Given the description of an element on the screen output the (x, y) to click on. 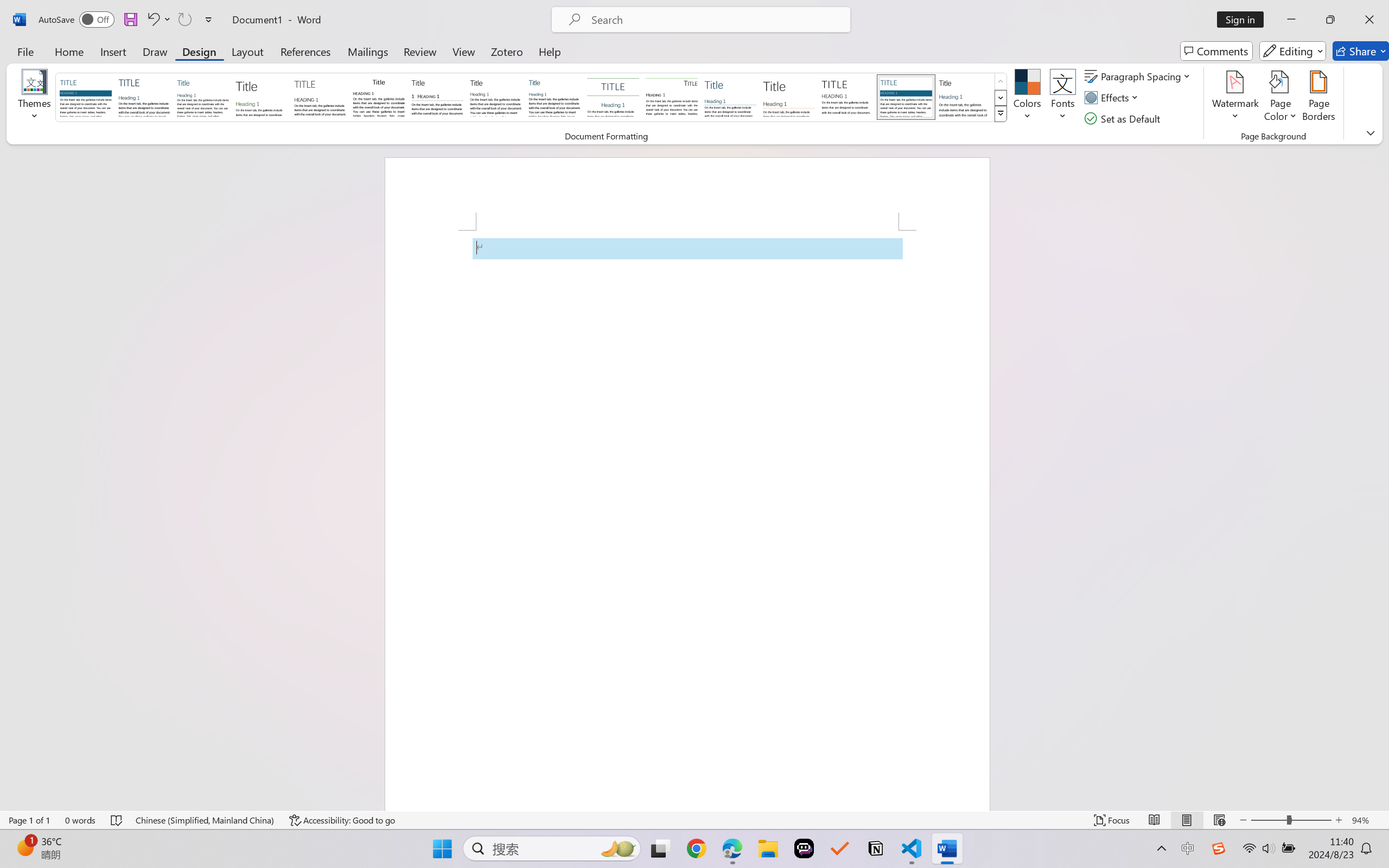
Lines (Distinctive) (671, 96)
Lines (Simple) (730, 96)
Colors (1027, 97)
Fonts (1062, 97)
Document (85, 96)
Basic (Stylish) (260, 96)
Effects (1113, 97)
Word (964, 96)
